Given the description of an element on the screen output the (x, y) to click on. 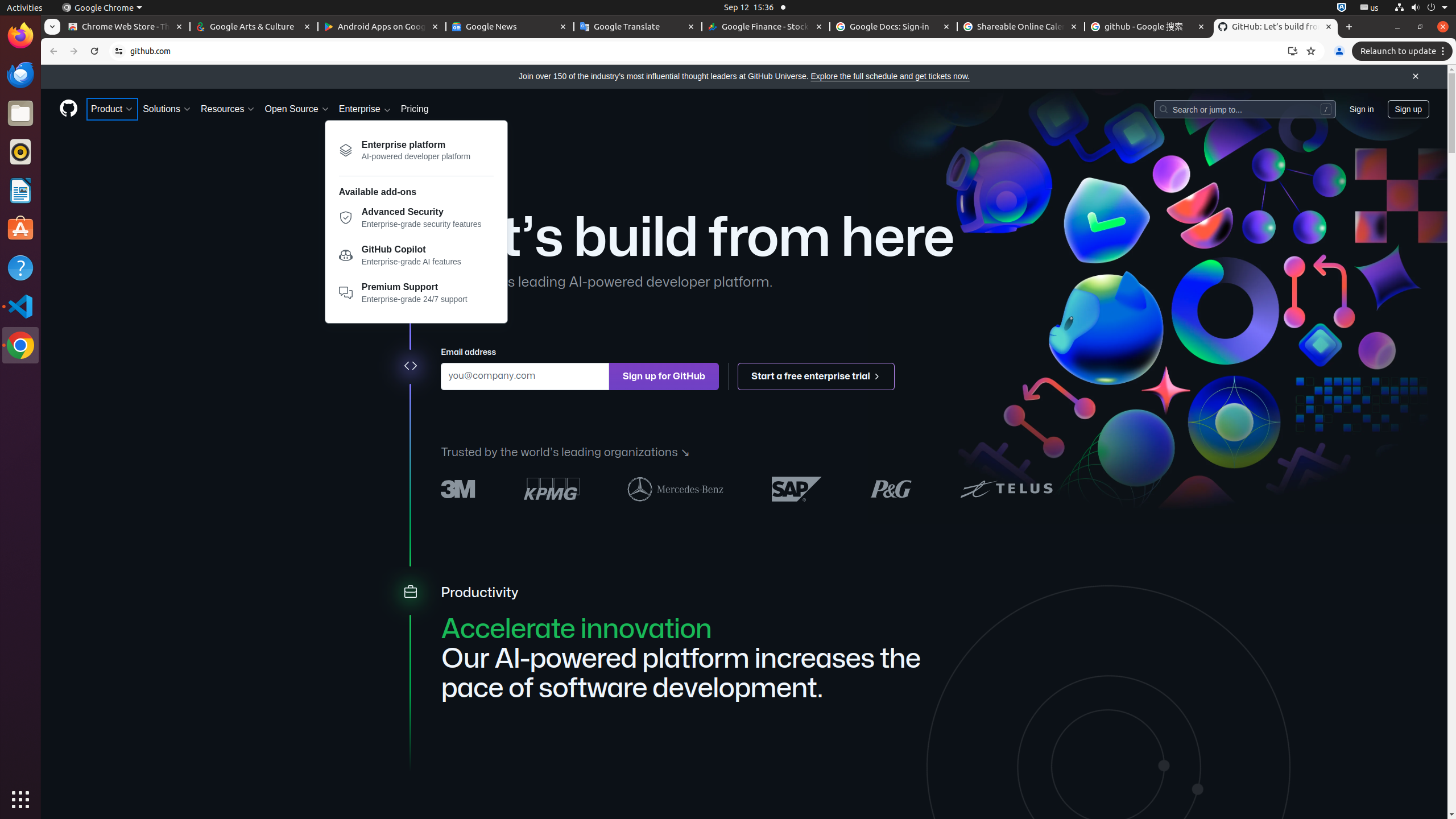
Visual Studio Code Element type: push-button (20, 306)
:1.21/StatusNotifierItem Element type: menu (1369, 7)
Ubuntu Software Element type: push-button (20, 229)
Homepage Element type: link (68, 108)
GitHub Copilot Enterprise-grade AI features Element type: link (415, 257)
